Given the description of an element on the screen output the (x, y) to click on. 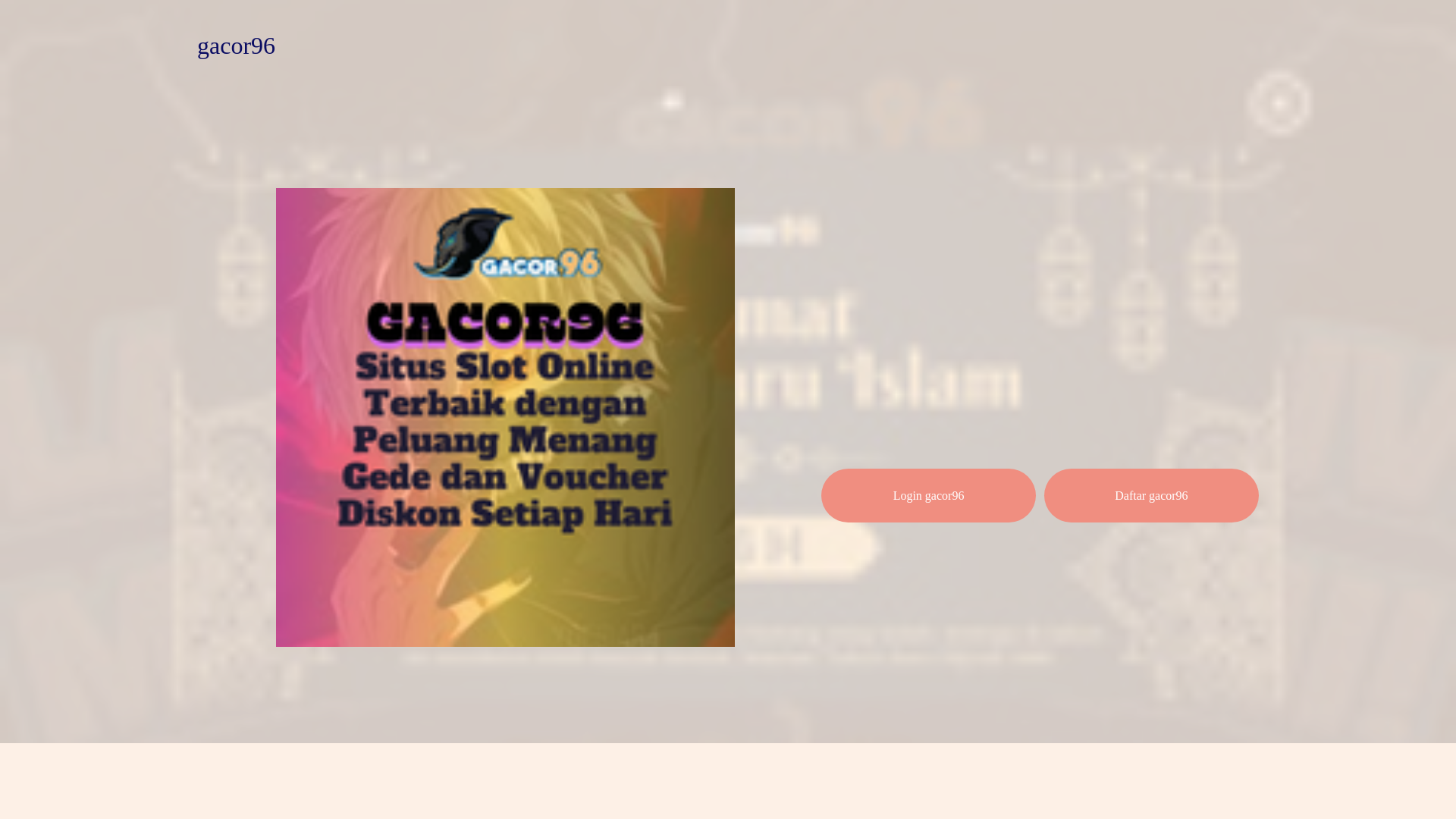
Daftar gacor96 (1151, 495)
gacor96 (235, 44)
Login gacor96 (928, 495)
